Given the description of an element on the screen output the (x, y) to click on. 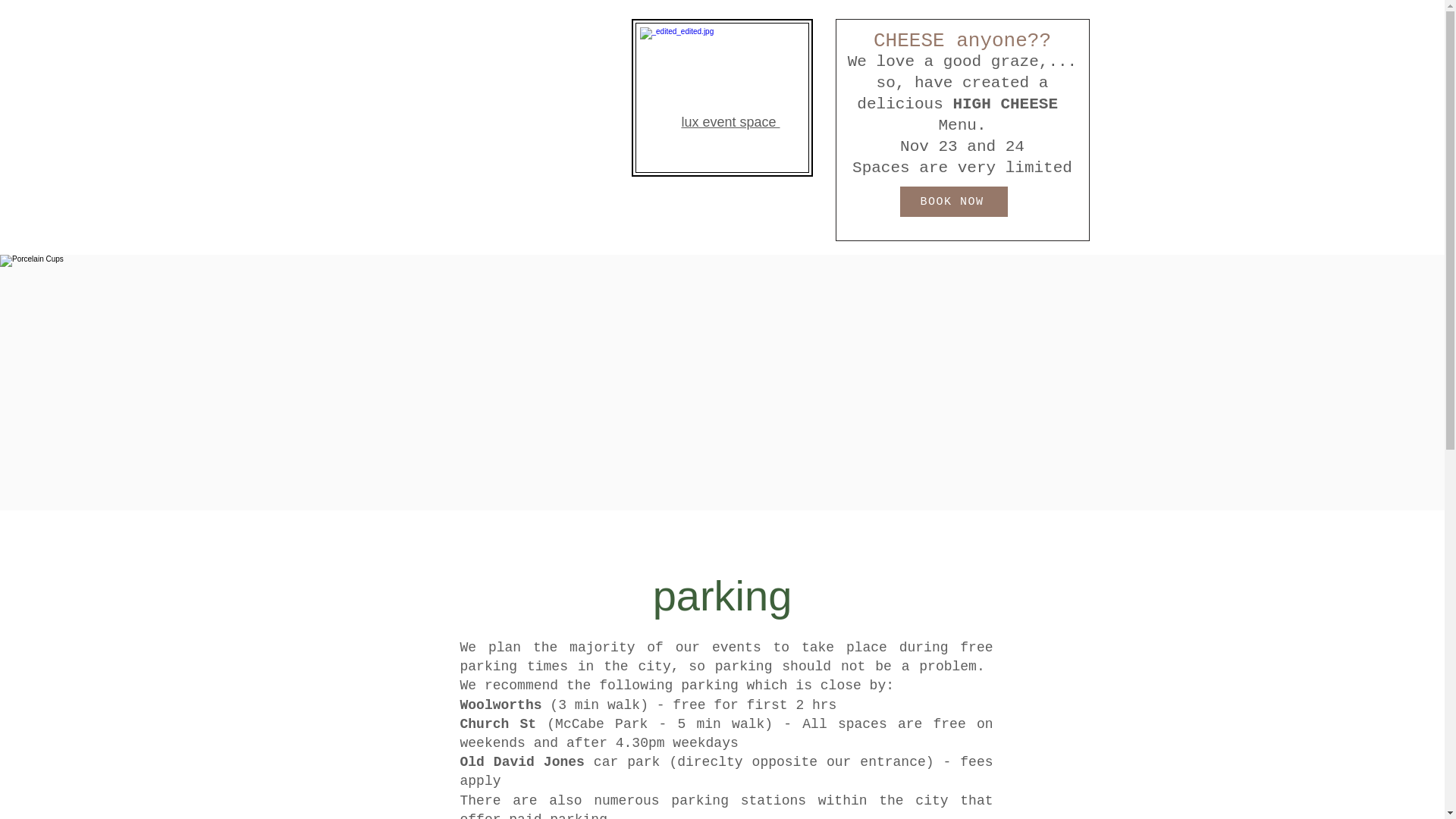
BOOK NOW (953, 201)
lux event space  (729, 122)
